Given the description of an element on the screen output the (x, y) to click on. 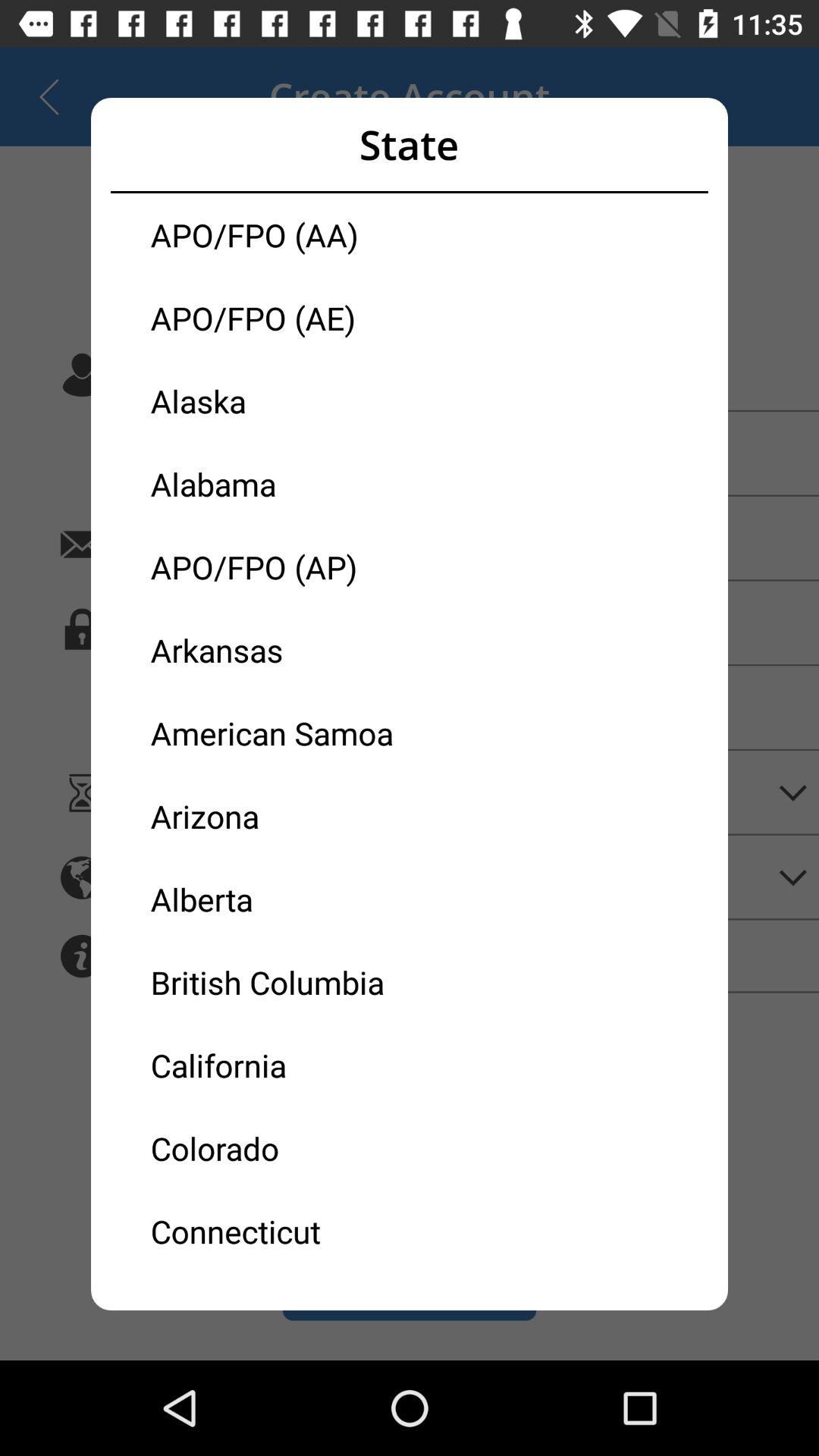
launch the alabama icon (279, 483)
